Given the description of an element on the screen output the (x, y) to click on. 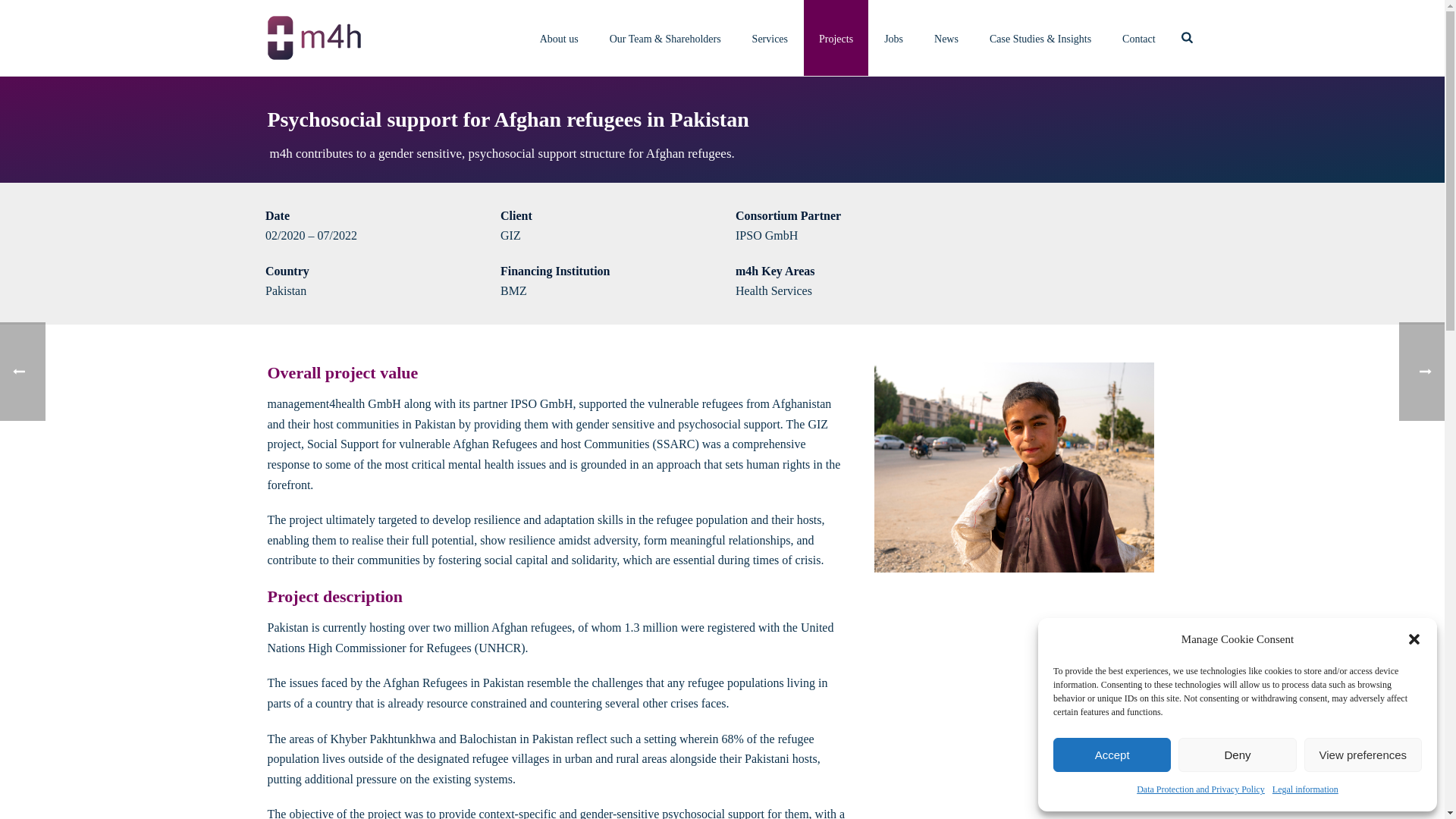
Accept (1111, 754)
Legal information (1305, 789)
View preferences (1363, 754)
International health professionals (312, 37)
About us (559, 38)
800x600 (1013, 467)
Data Protection and Privacy Policy (1201, 789)
About us (559, 38)
Deny (1236, 754)
